Given the description of an element on the screen output the (x, y) to click on. 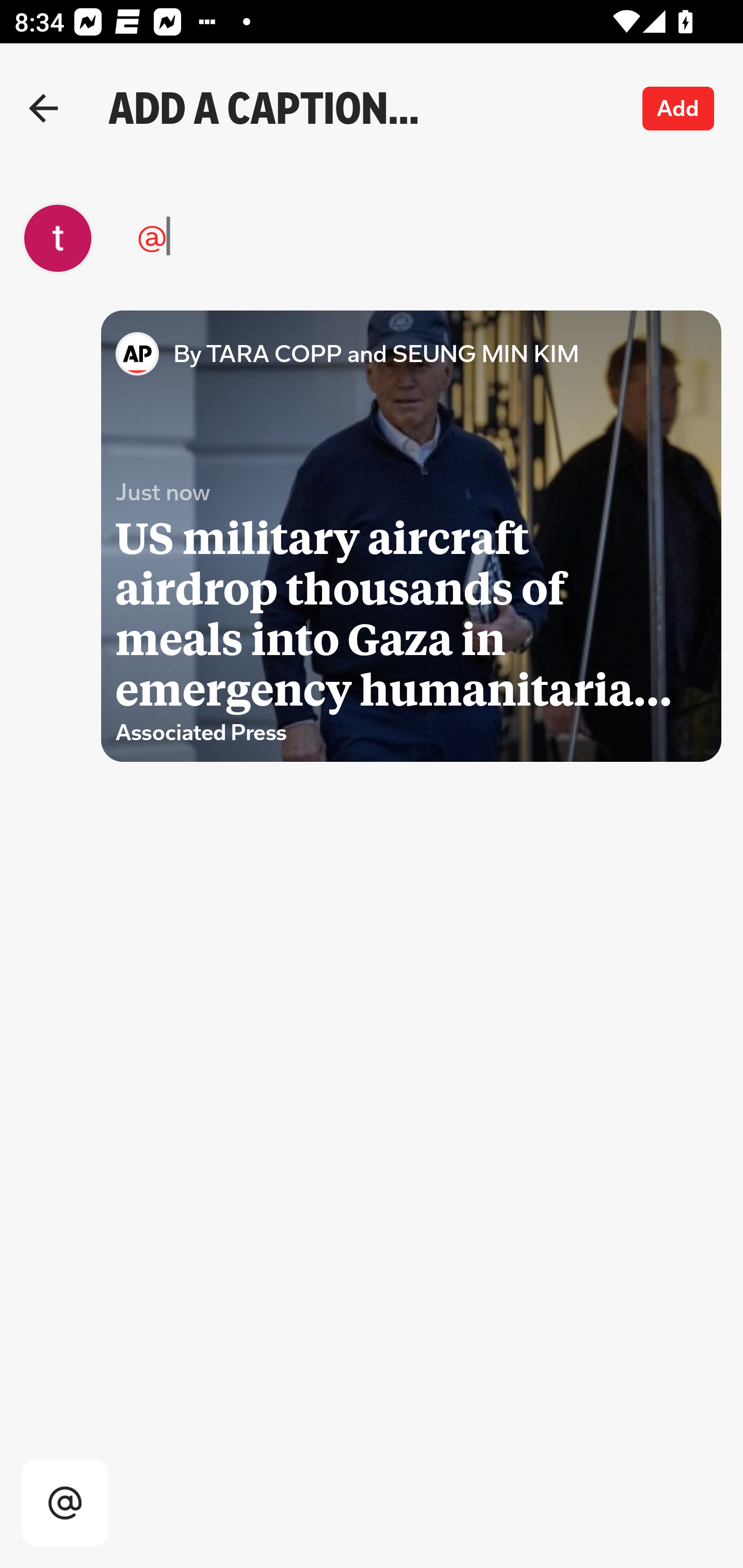
Add (678, 108)
@ (360, 238)
